Given the description of an element on the screen output the (x, y) to click on. 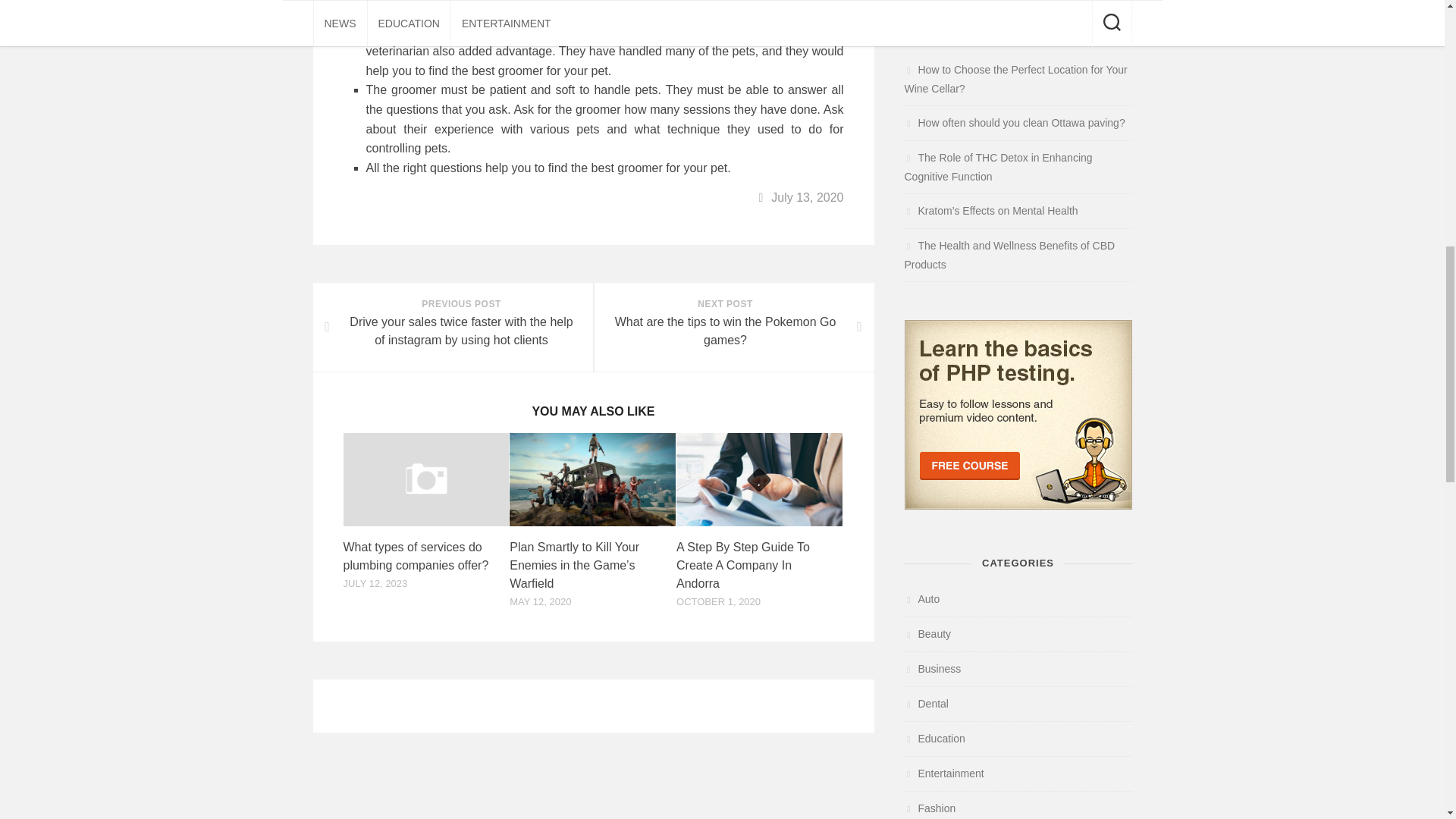
Business (932, 668)
How often should you clean Ottawa paving? (1014, 122)
Beauty (927, 633)
The Health and Wellness Benefits of CBD Products (1009, 255)
A Step By Step Guide To Create A Company In Andorra  (743, 564)
The Role of THC Detox in Enhancing Cognitive Function (998, 166)
Education (933, 738)
What types of services do plumbing companies offer? (414, 555)
How to Choose the Perfect Location for Your Wine Cellar? (1015, 79)
Fashion (929, 808)
Dental (925, 703)
Entertainment (944, 773)
Auto (732, 326)
